Given the description of an element on the screen output the (x, y) to click on. 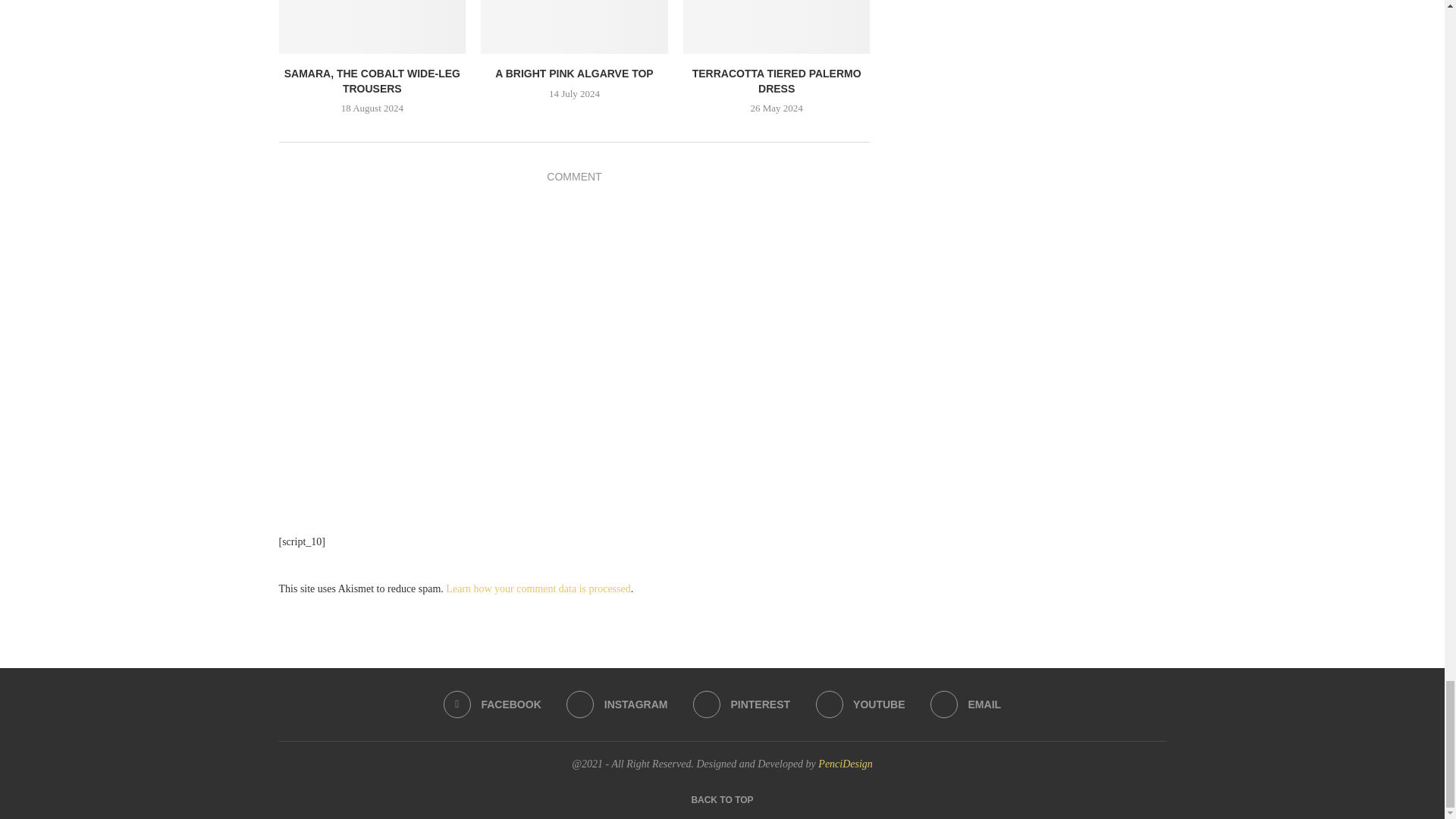
Samara, the cobalt wide-leg trousers (372, 27)
Terracotta tiered Palermo dress (776, 27)
A bright pink Algarve top (574, 27)
